Given the description of an element on the screen output the (x, y) to click on. 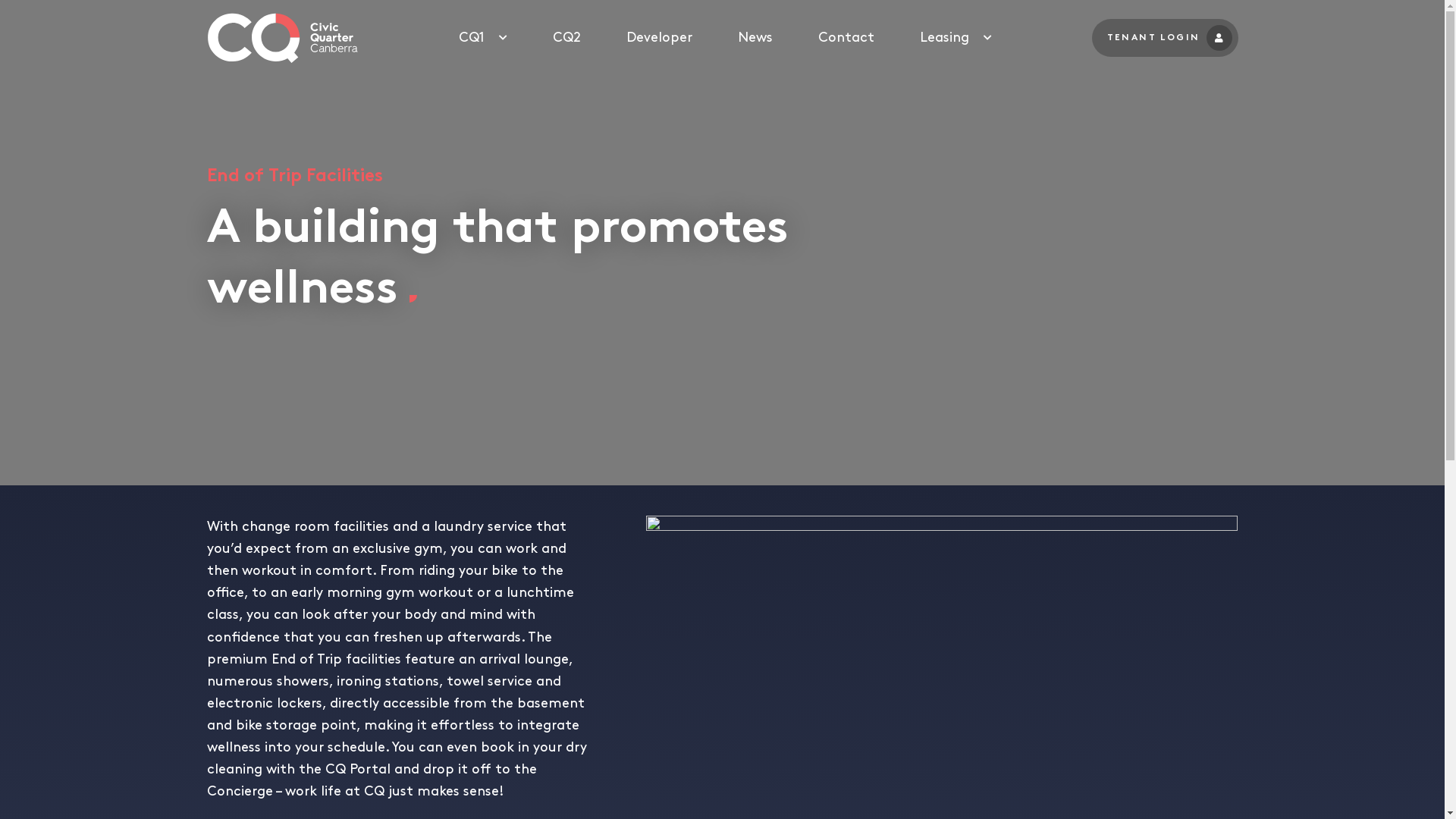
Developer Element type: text (659, 37)
Contact Element type: text (846, 37)
Leasing Element type: text (944, 37)
TENANT LOGIN Element type: text (1165, 37)
CQ2 Element type: text (566, 37)
CQ1 Element type: text (471, 37)
News Element type: text (755, 37)
